Given the description of an element on the screen output the (x, y) to click on. 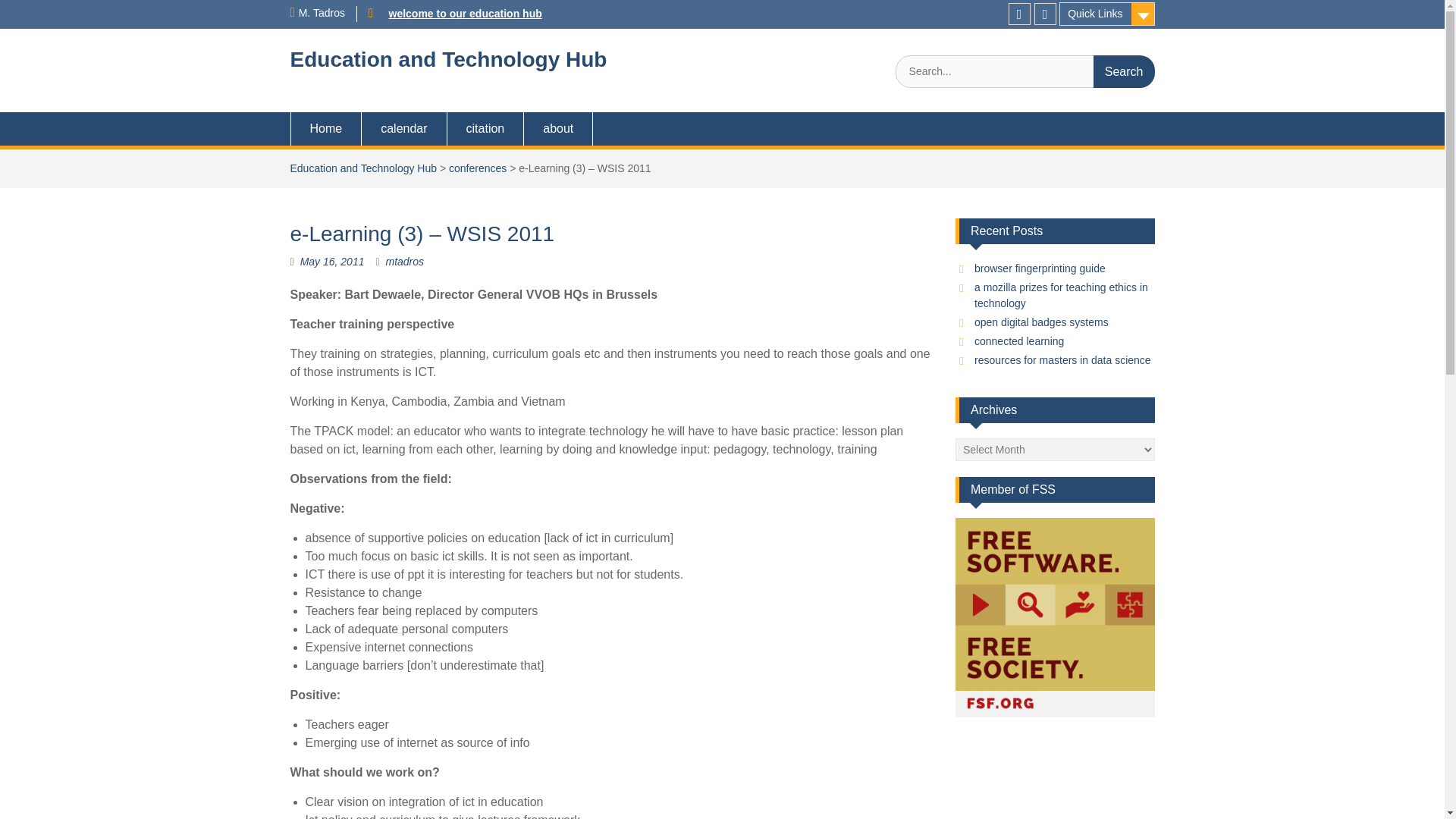
Search (1123, 71)
May 16, 2011 (332, 261)
citation (485, 128)
Education and Technology Hub (448, 59)
about (558, 128)
Home (325, 128)
Search (1123, 71)
M. Tadros (321, 12)
mtadros (404, 261)
Search for: (1024, 71)
